Given the description of an element on the screen output the (x, y) to click on. 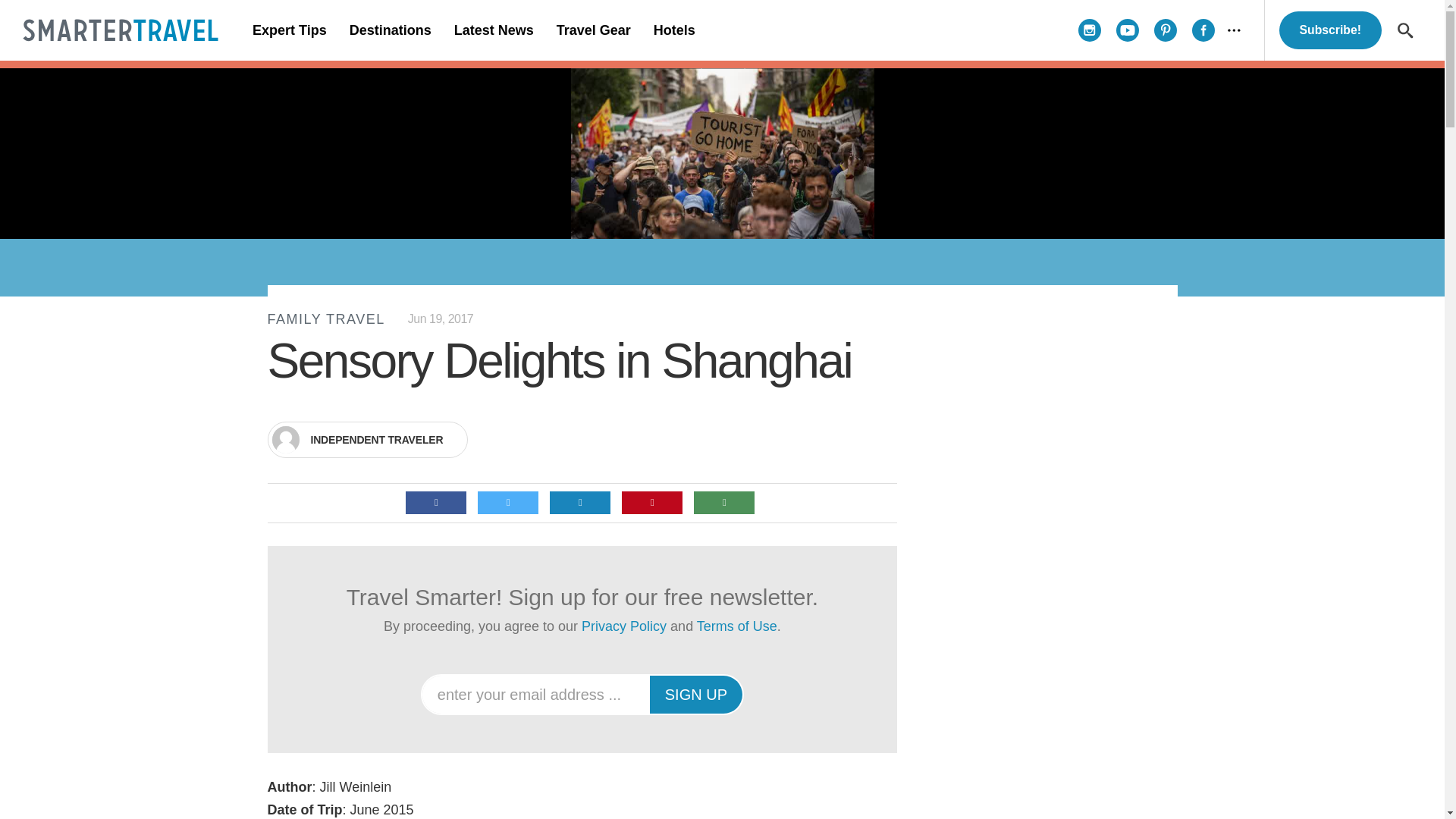
Hotels (674, 30)
Subscribe! (1330, 30)
Travel Gear (593, 30)
Expert Tips (289, 30)
Destinations (389, 30)
Latest News (493, 30)
